Given the description of an element on the screen output the (x, y) to click on. 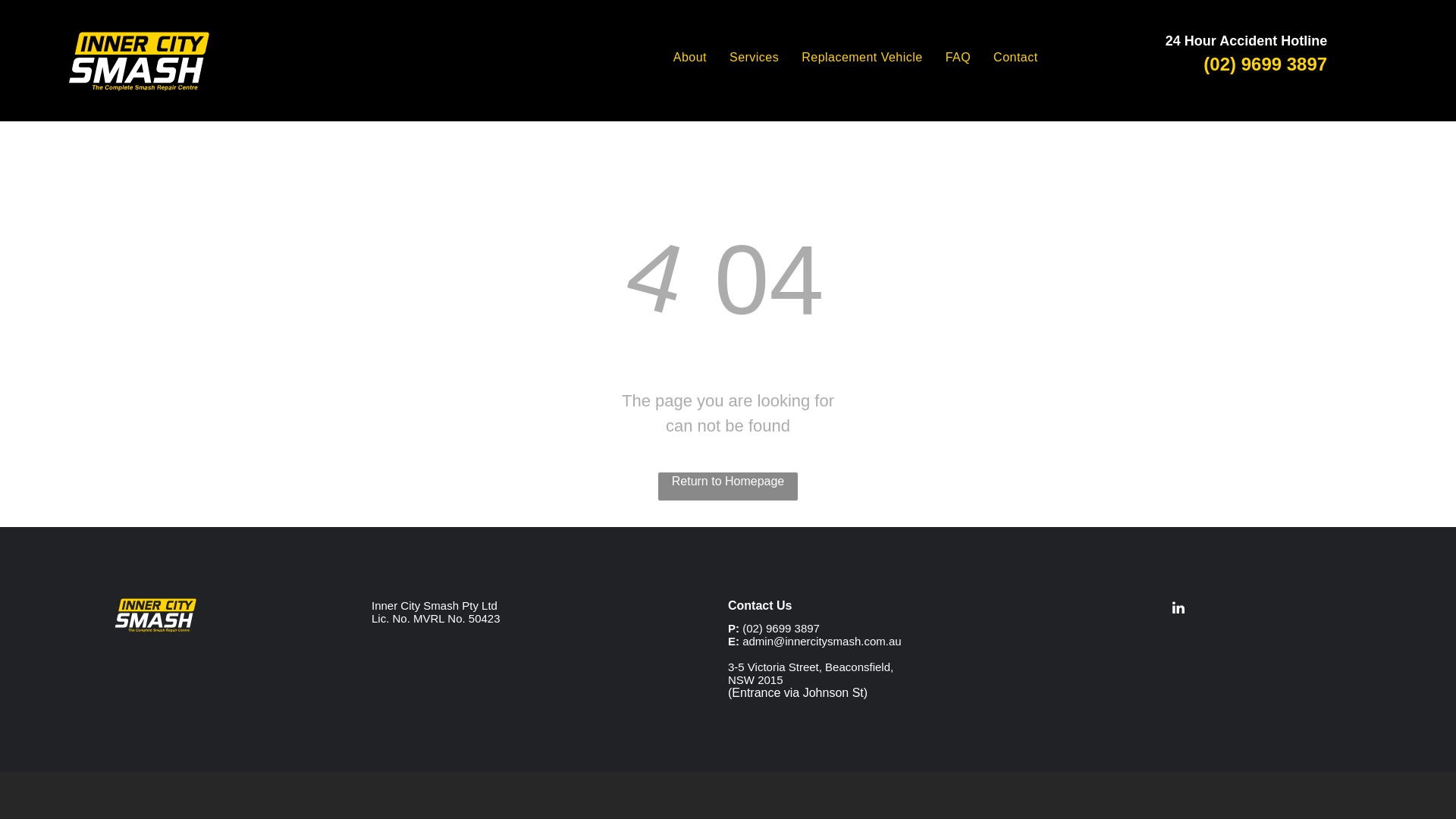
FAQ Element type: text (961, 57)
Replacement Vehicle Element type: text (865, 57)
Services Element type: text (757, 57)
Contact Element type: text (1019, 57)
Return to Homepage Element type: text (727, 486)
About Element type: text (693, 57)
